Given the description of an element on the screen output the (x, y) to click on. 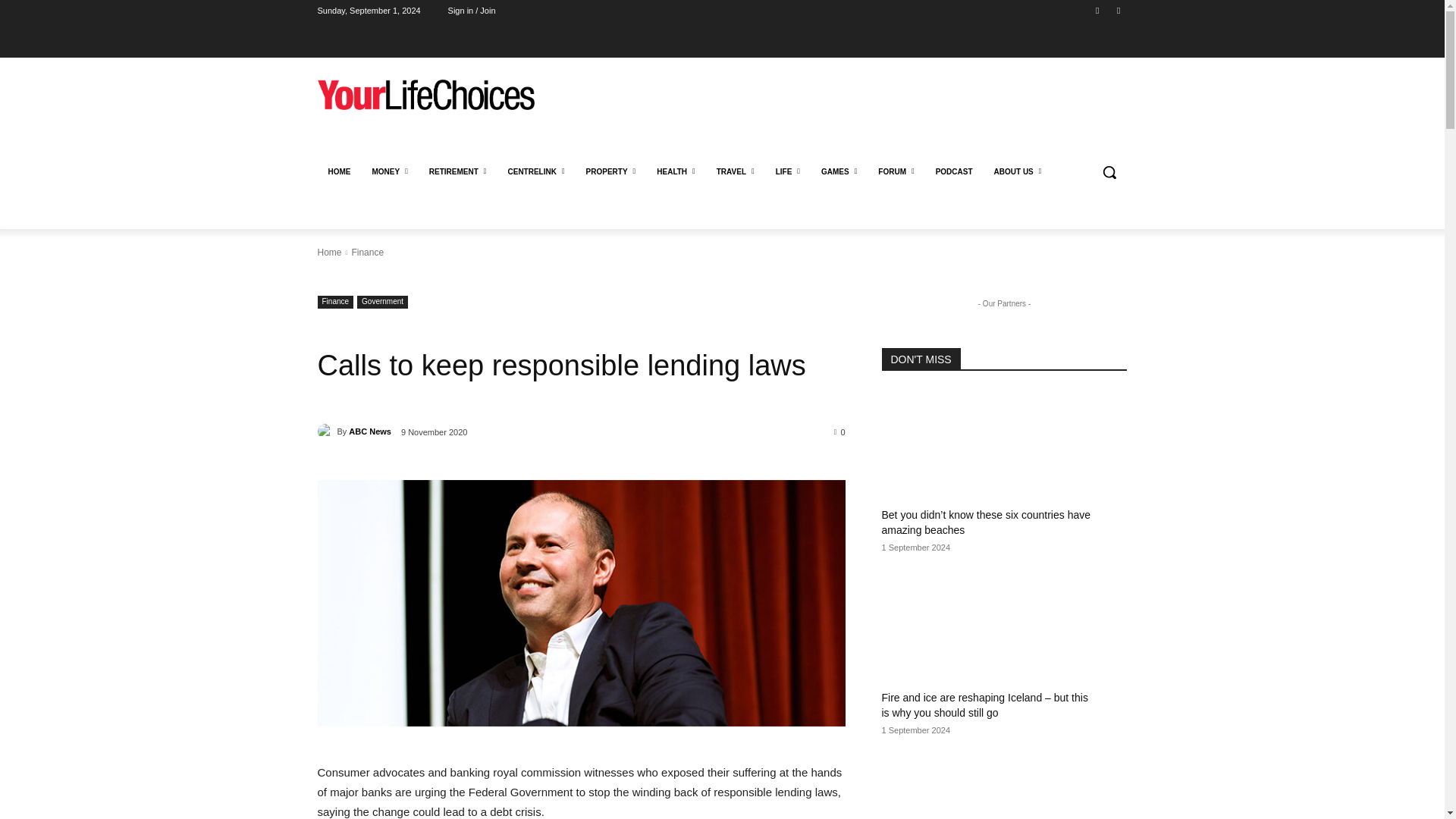
ABC News (326, 431)
Twitter (1117, 9)
Calls to keep responsible lending laws (580, 602)
View all posts in Finance (367, 252)
Facebook (1097, 9)
